Given the description of an element on the screen output the (x, y) to click on. 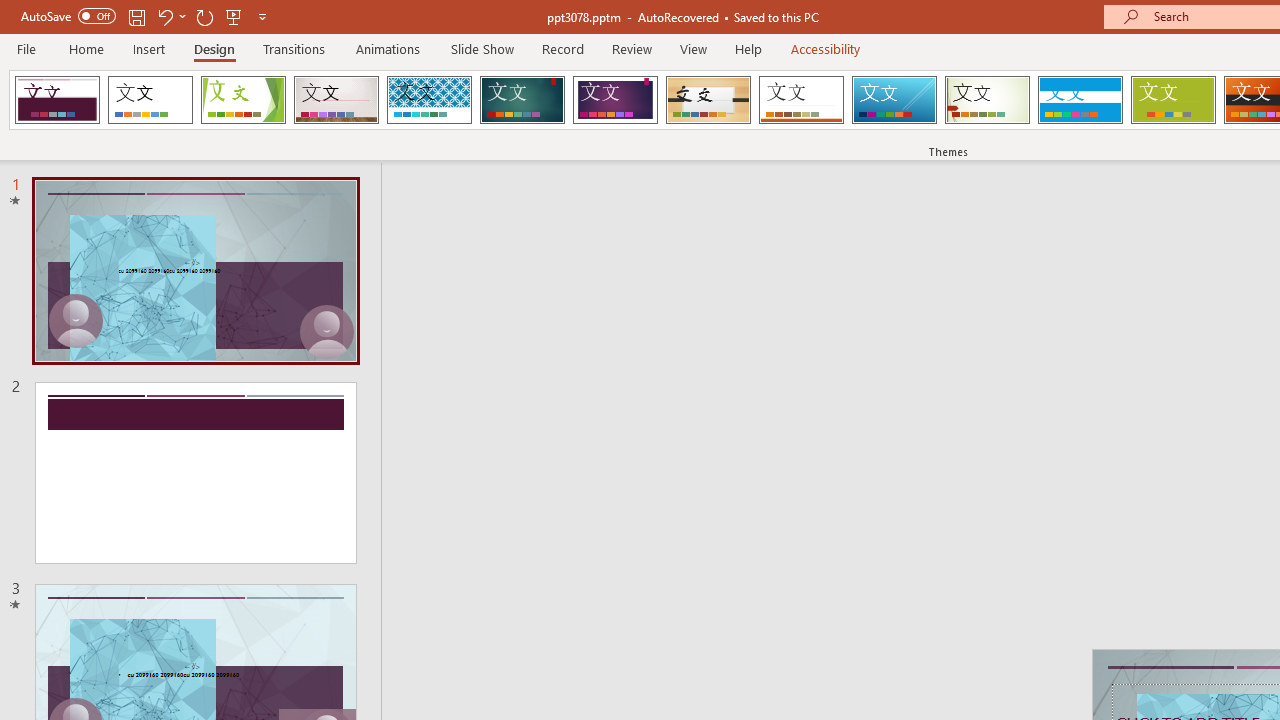
Banded (1080, 100)
Help (748, 48)
Slide Show (481, 48)
Slice (893, 100)
Gallery (336, 100)
Save (136, 15)
Quick Access Toolbar (145, 16)
Wisp (987, 100)
From Beginning (234, 15)
Redo (204, 15)
Home (86, 48)
Ion Boardroom (615, 100)
Accessibility (825, 48)
View (693, 48)
Undo (170, 15)
